Given the description of an element on the screen output the (x, y) to click on. 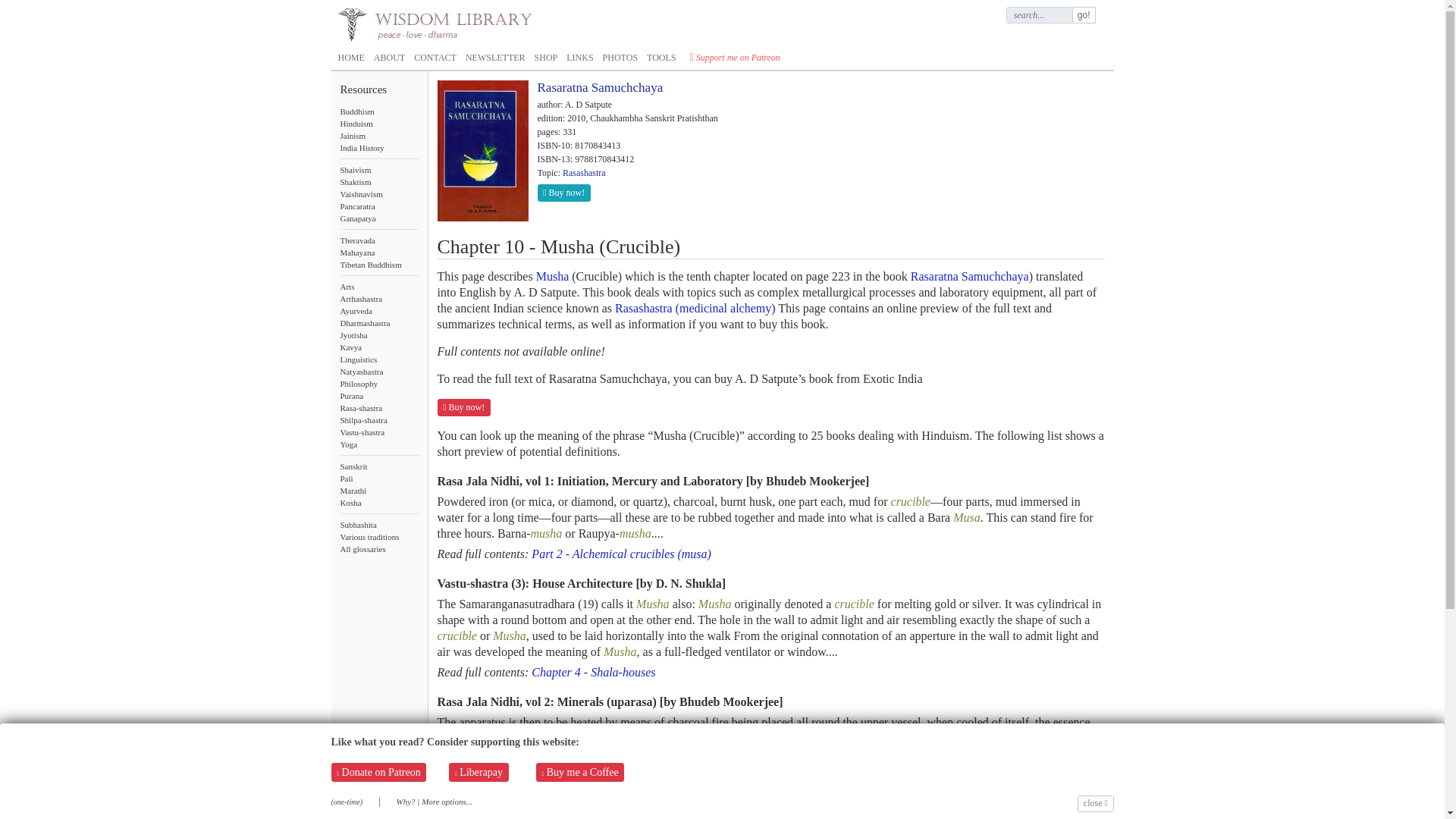
Ganapatya (378, 218)
Shaivism (378, 169)
Support me on Patreon (734, 57)
Hinduism (378, 123)
Natyashastra (378, 371)
Theravada Portal (378, 240)
Pancaratra Portal (378, 205)
Vaishnavism (378, 193)
SHOP (545, 57)
Buddhism Portal (378, 111)
